Given the description of an element on the screen output the (x, y) to click on. 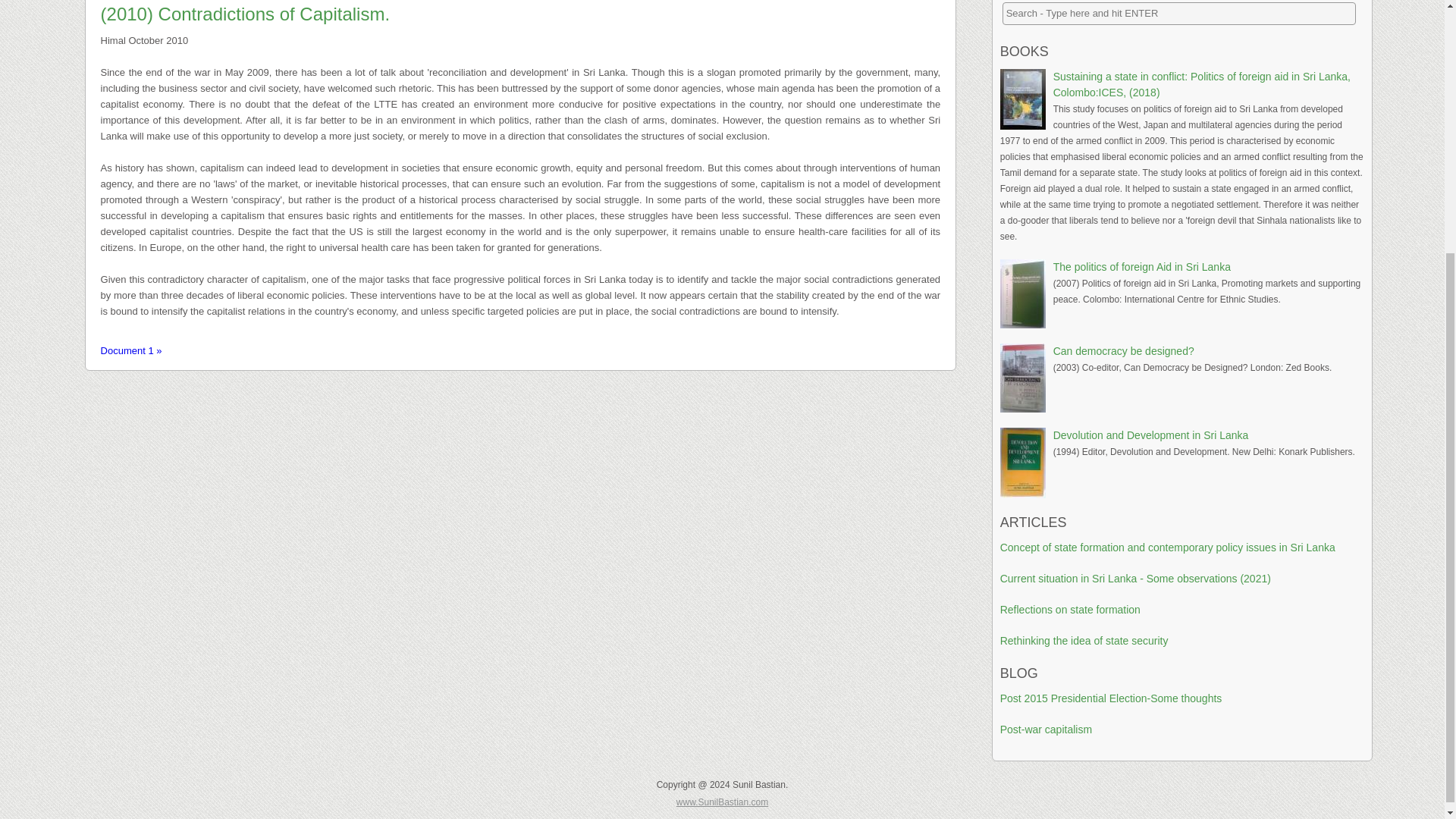
BOOKS (1024, 51)
Devolution and Development in Sri Lanka (1150, 435)
www.SunilBastian.com (722, 801)
Reflections on state formation (1070, 609)
Post-war capitalism (1046, 729)
Post 2015 Presidential Election-Some thoughts (1111, 698)
The politics of foreign Aid in Sri Lanka (1141, 266)
BLOG (1019, 672)
Rethinking the idea of state security (1084, 640)
ARTICLES (1033, 522)
Can democracy be designed? (1122, 350)
